Given the description of an element on the screen output the (x, y) to click on. 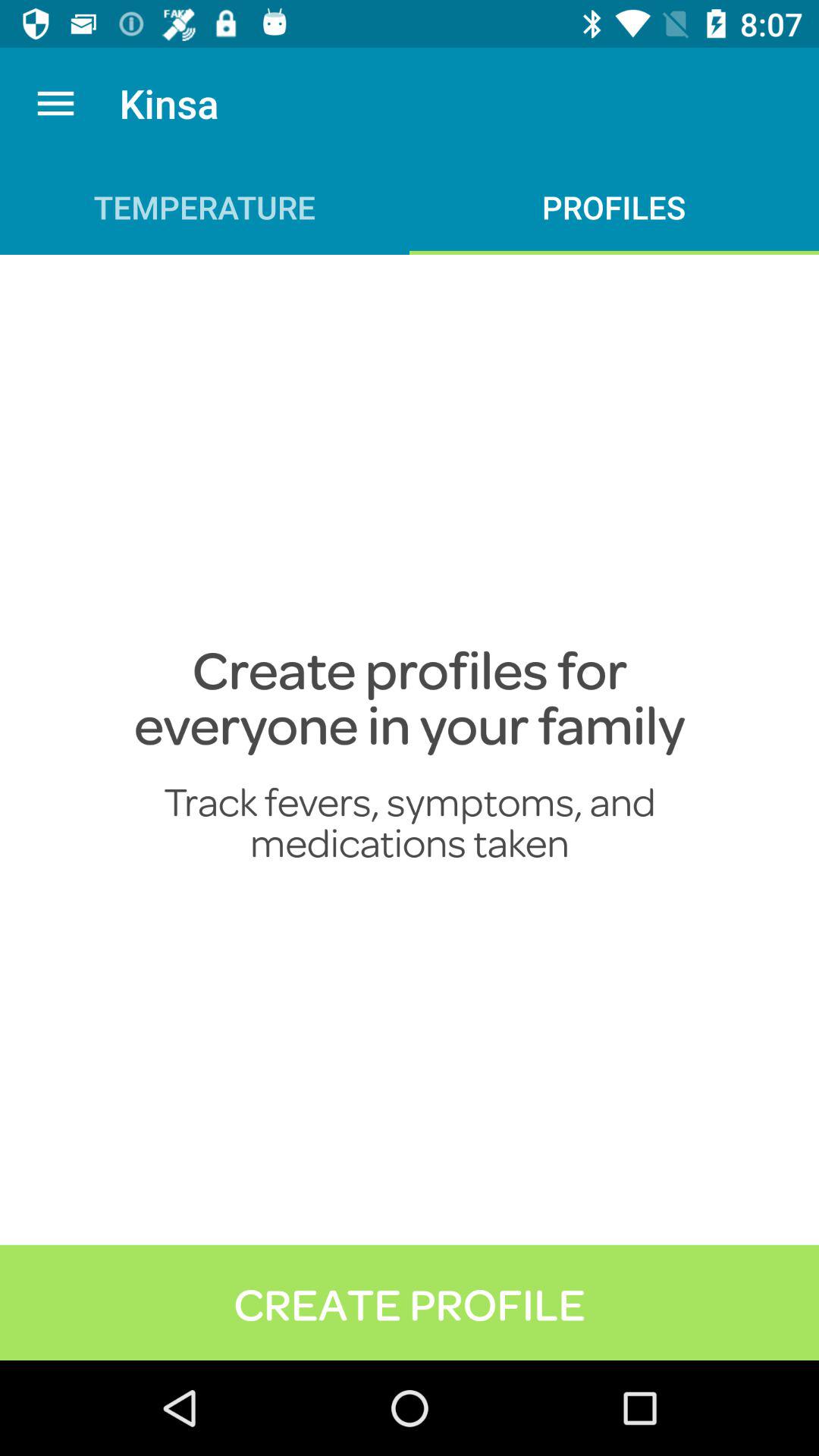
choose the item below track fevers symptoms icon (409, 1302)
